Given the description of an element on the screen output the (x, y) to click on. 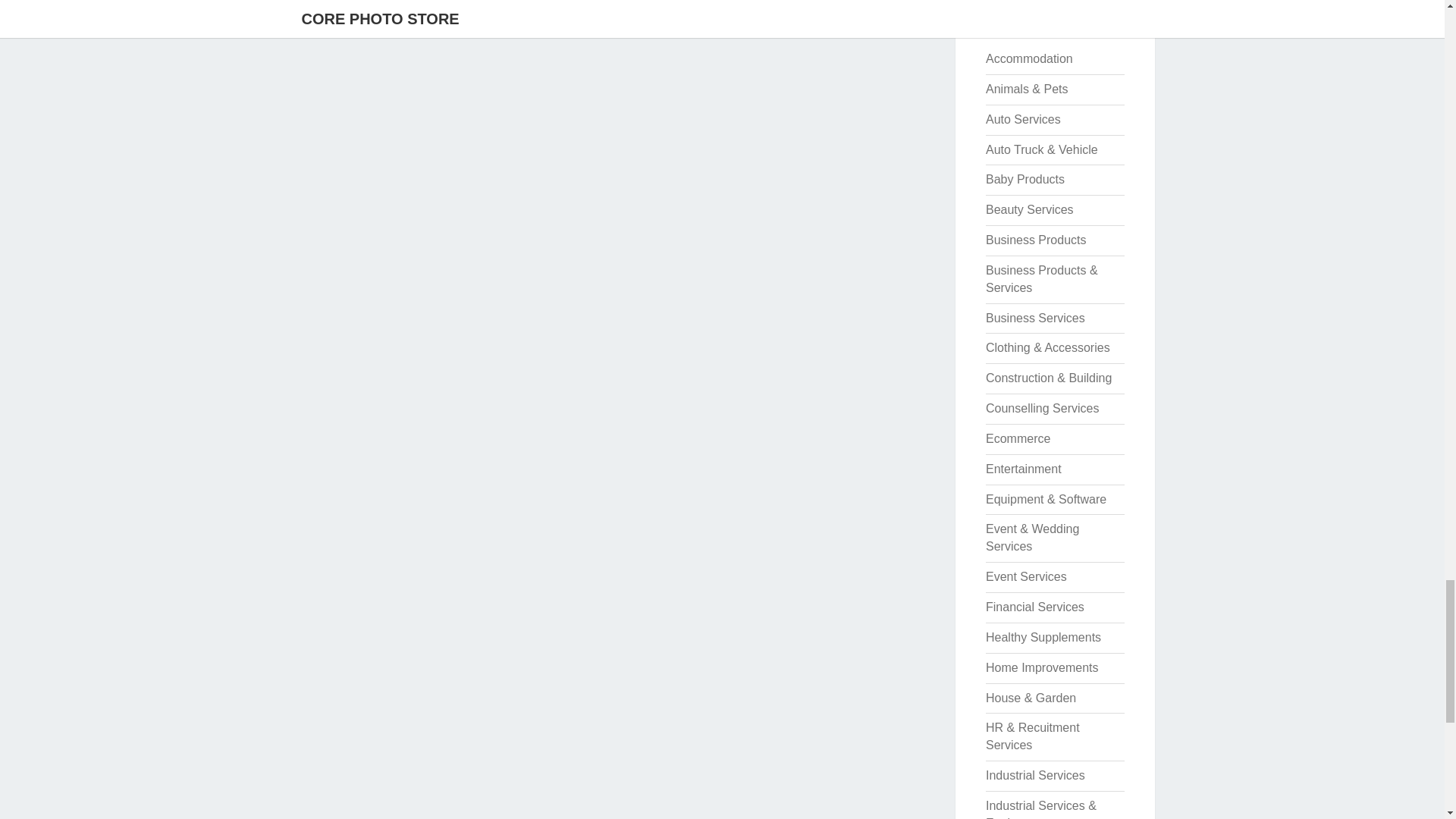
Accommodation (1029, 58)
Beauty Services (1029, 209)
